Given the description of an element on the screen output the (x, y) to click on. 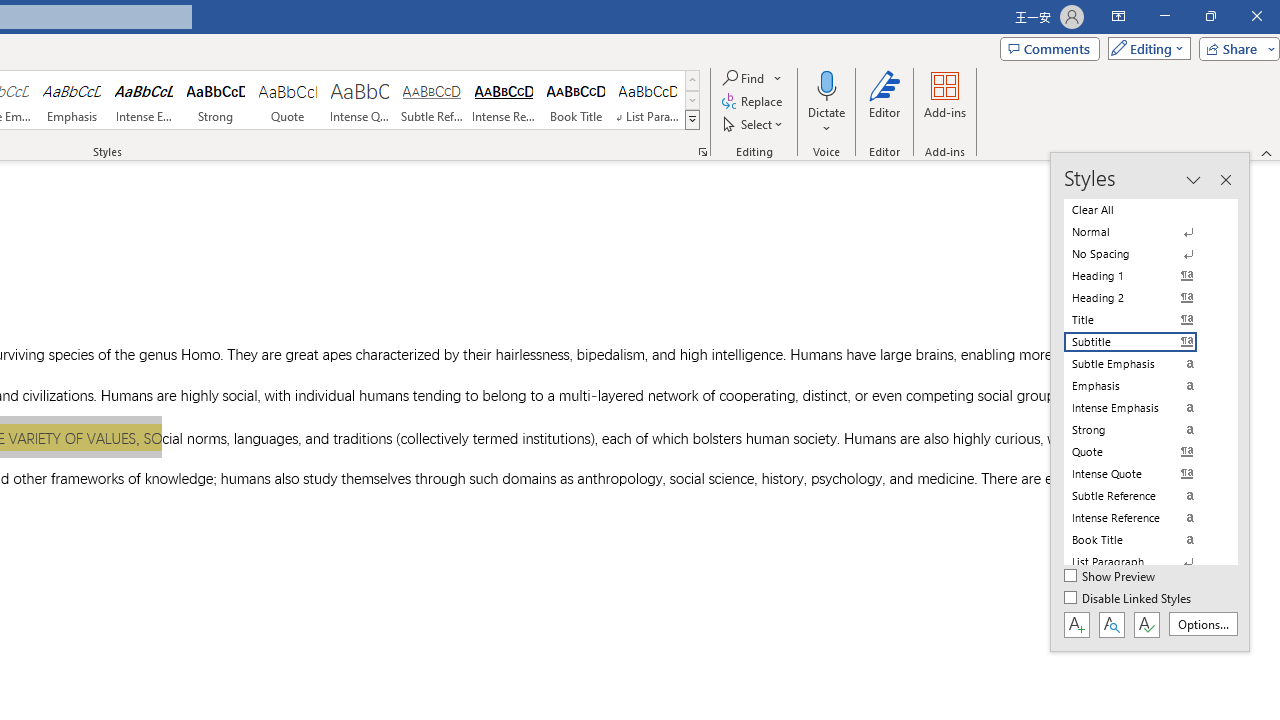
Close (1256, 16)
Intense Emphasis (143, 100)
Share (1235, 48)
Styles... (702, 151)
Subtle Reference (431, 100)
Strong (216, 100)
Clear All (1142, 209)
Find (753, 78)
Select (754, 124)
Class: MsoCommandBar (1149, 401)
Class: NetUIImage (692, 119)
Subtitle (1142, 341)
Subtle Emphasis (1142, 363)
Ribbon Display Options (1118, 16)
Row up (692, 79)
